Given the description of an element on the screen output the (x, y) to click on. 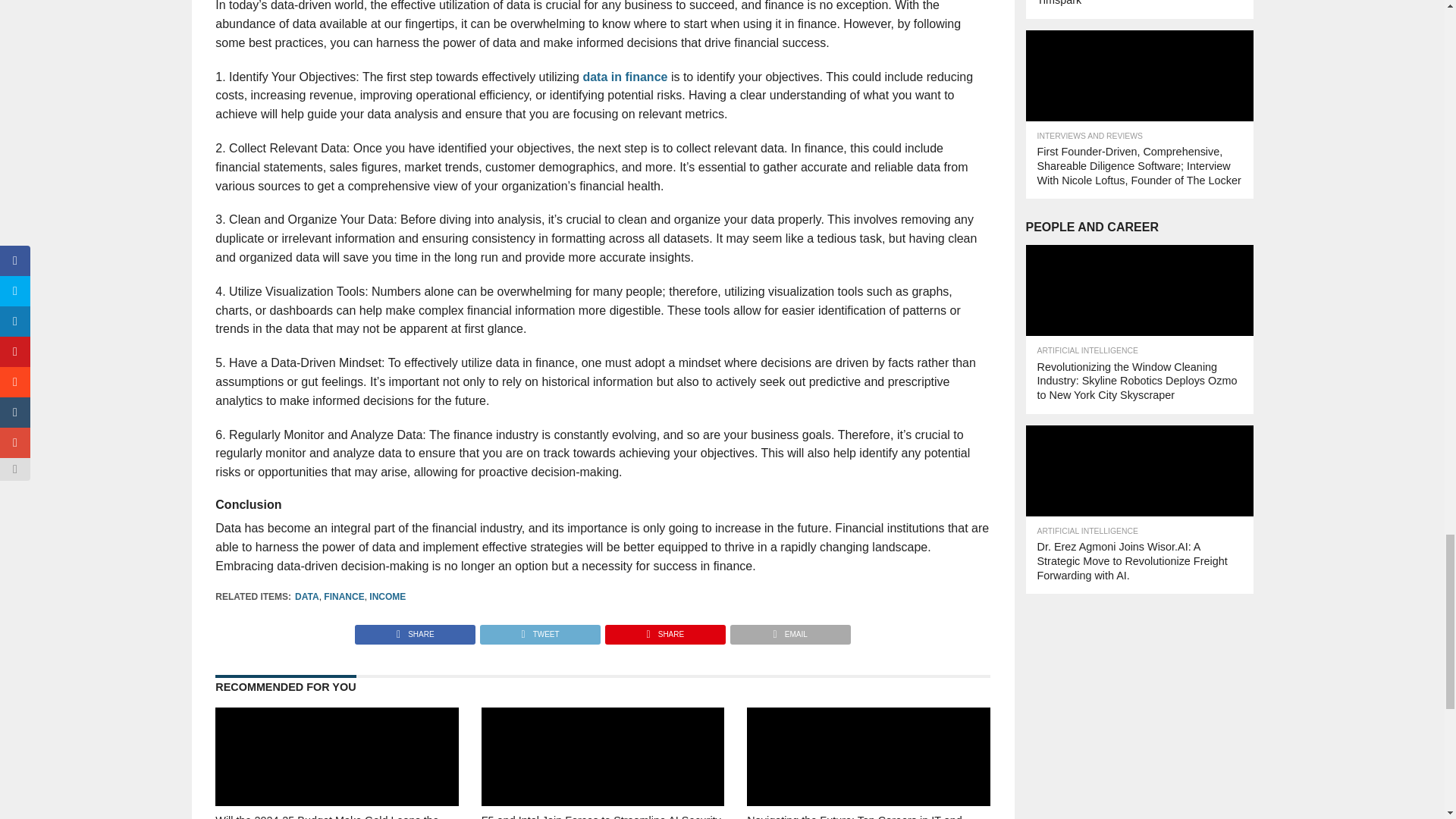
Tweet This Post (539, 630)
Pin This Post (664, 630)
Share on Facebook (415, 630)
